Given the description of an element on the screen output the (x, y) to click on. 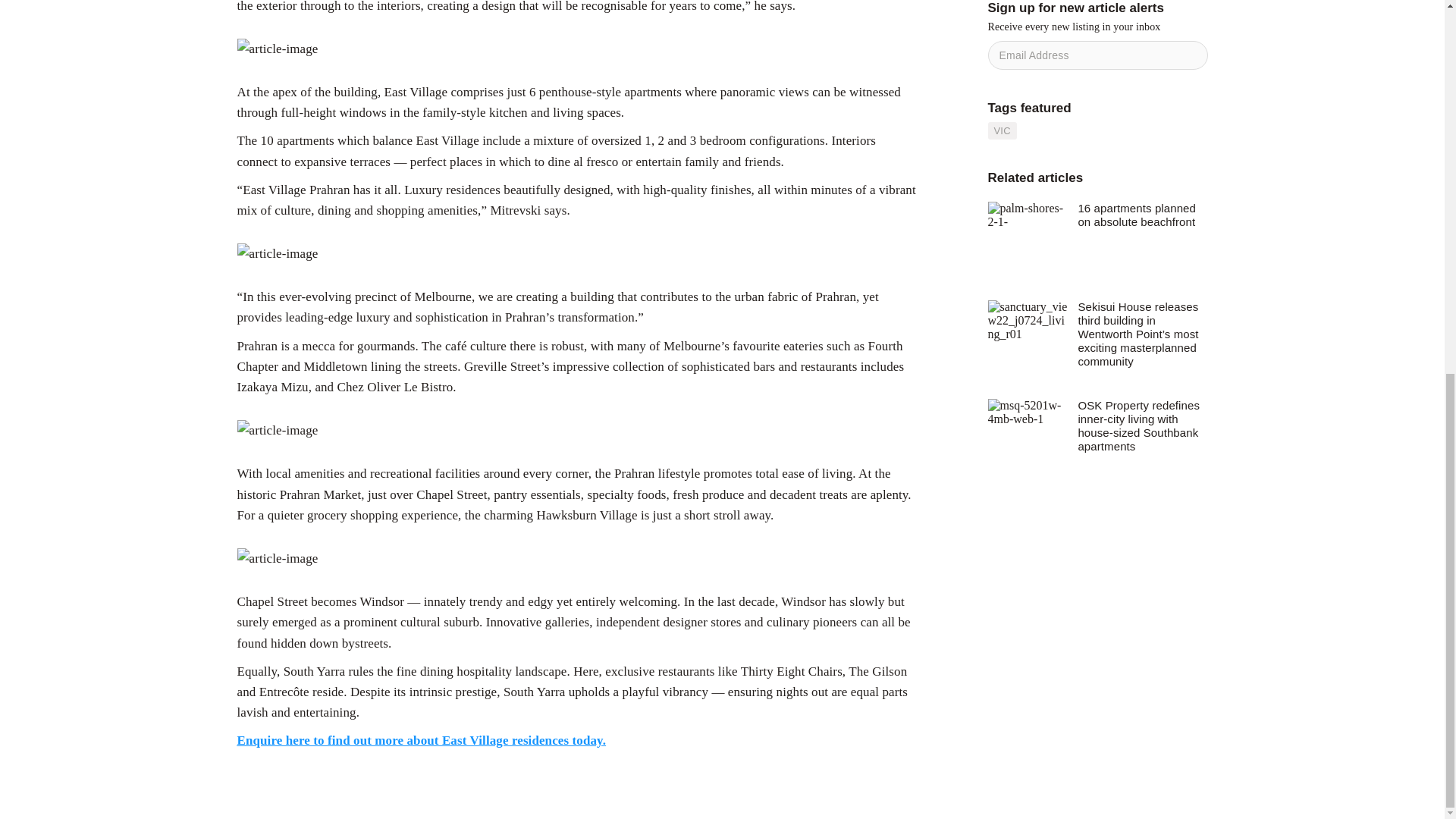
VIC (1001, 130)
16 apartments planned on absolute beachfront (1142, 215)
